Given the description of an element on the screen output the (x, y) to click on. 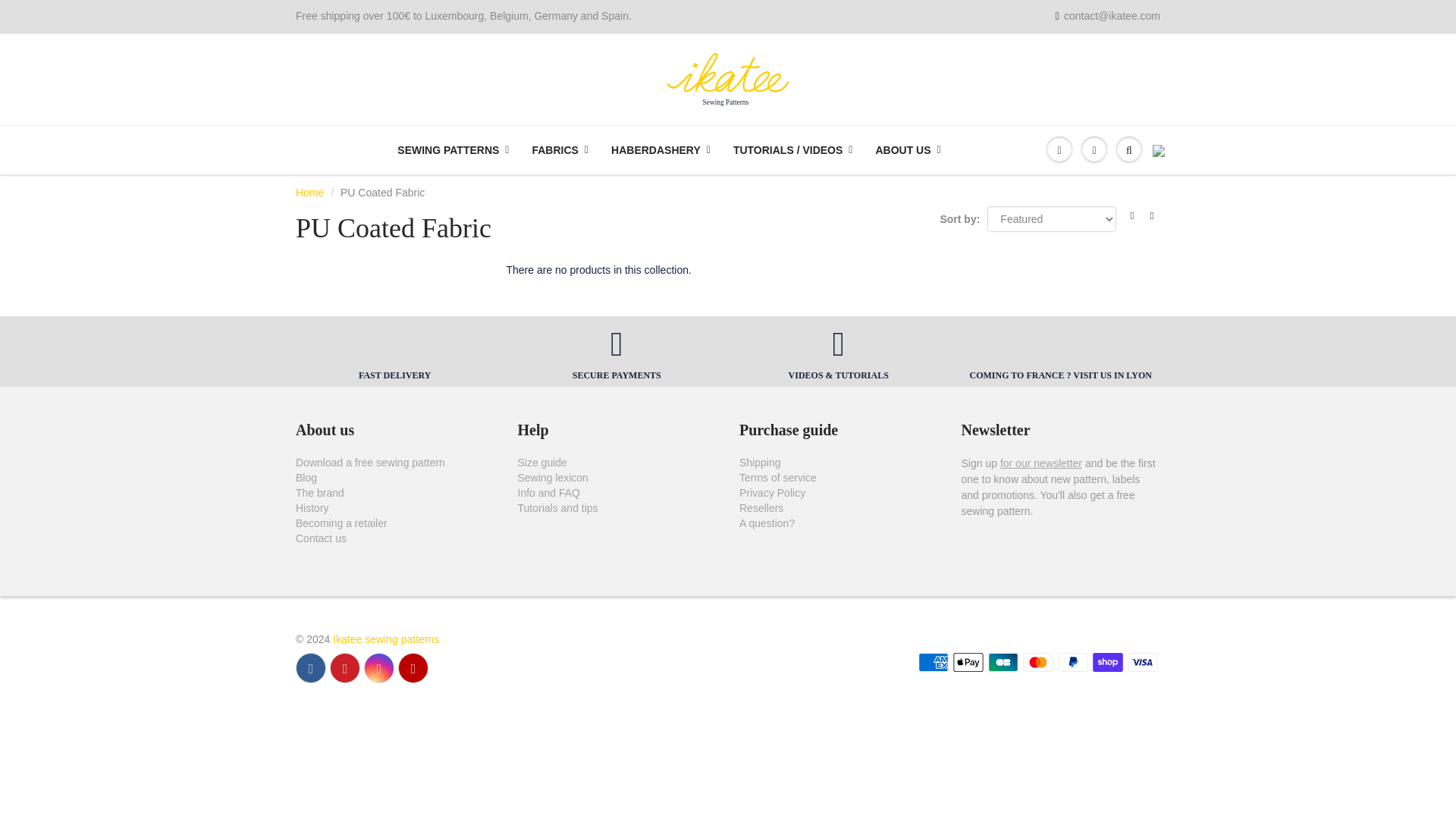
Shop Pay (1107, 661)
SEWING PATTERNS (452, 149)
Visa (1141, 661)
Cartes Bancaires (1002, 661)
Pinterest (344, 667)
PayPal (1072, 661)
Home (309, 192)
Apple Pay (968, 661)
Facebook (310, 667)
American Express (933, 661)
YouTube (412, 667)
Instagram (379, 667)
Mastercard (1037, 661)
